Given the description of an element on the screen output the (x, y) to click on. 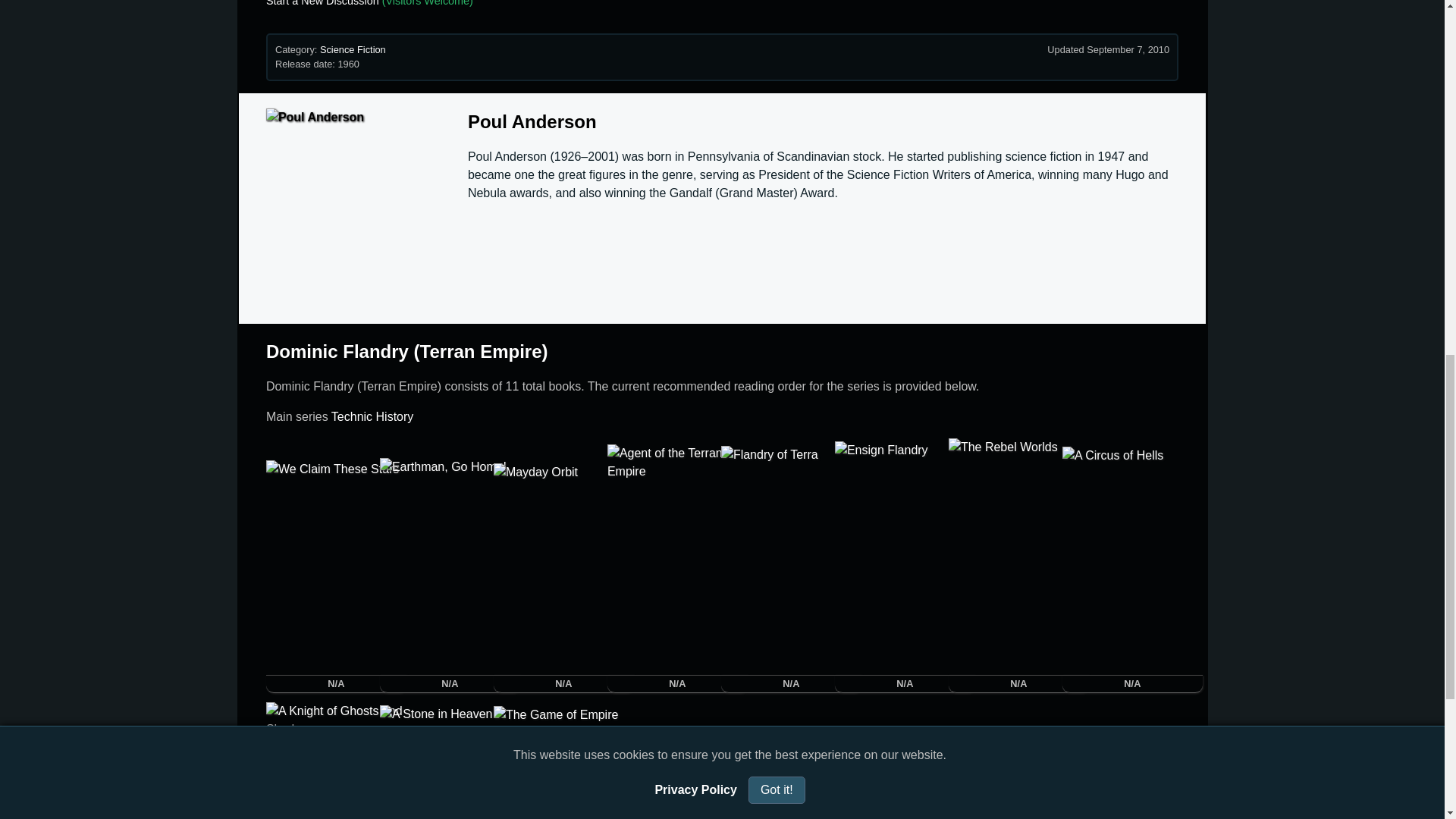
Flandry of Terra by Poul Anderson (790, 559)
Science Fiction (352, 49)
We Claim These Stars by Poul Anderson (336, 567)
A Stone in Heaven by Poul Anderson (449, 762)
Earthman, Go Home! by Poul Anderson (449, 565)
Mayday Orbit by Poul Anderson (563, 568)
The Game of Empire by Poul Anderson (563, 762)
A Knight of Ghosts and Shadows by Poul Anderson (336, 760)
Agent of the Terran Empire by Poul Anderson (677, 559)
